Given the description of an element on the screen output the (x, y) to click on. 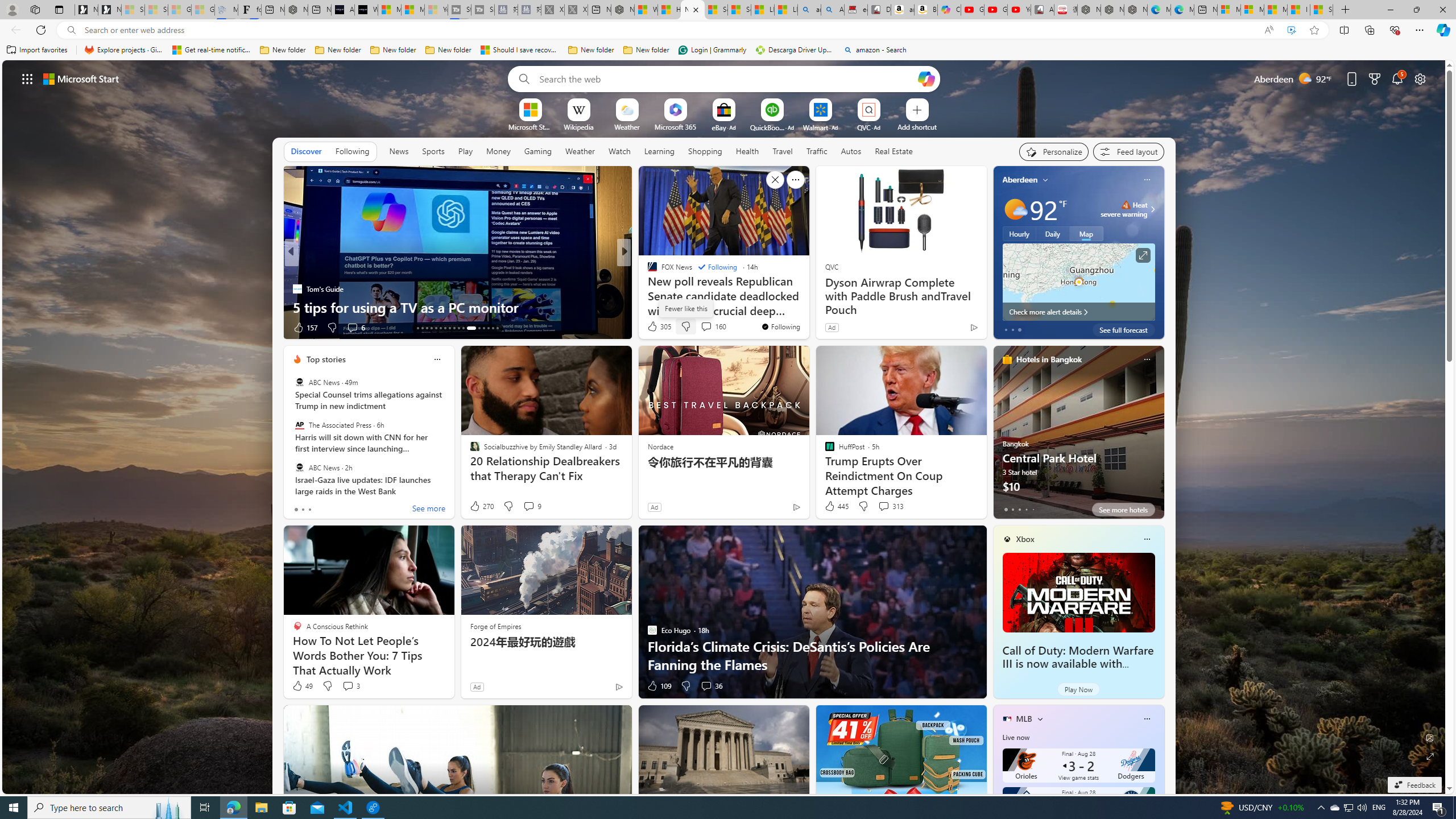
You're following FOX News (780, 326)
What's the best AI voice generator? - voice.ai (365, 9)
Amazon Echo Dot PNG - Search Images (832, 9)
tab-2 (1019, 509)
Gaming (537, 151)
Gloom - YouTube (995, 9)
Read aloud this page (Ctrl+Shift+U) (1268, 29)
Favorites bar (728, 49)
AutomationID: tab-25 (478, 328)
386 Like (654, 327)
Watch (619, 151)
Heat - Severe Heat severe warning (1123, 208)
109 Like (658, 685)
View comments 6 Comment (352, 327)
